Given the description of an element on the screen output the (x, y) to click on. 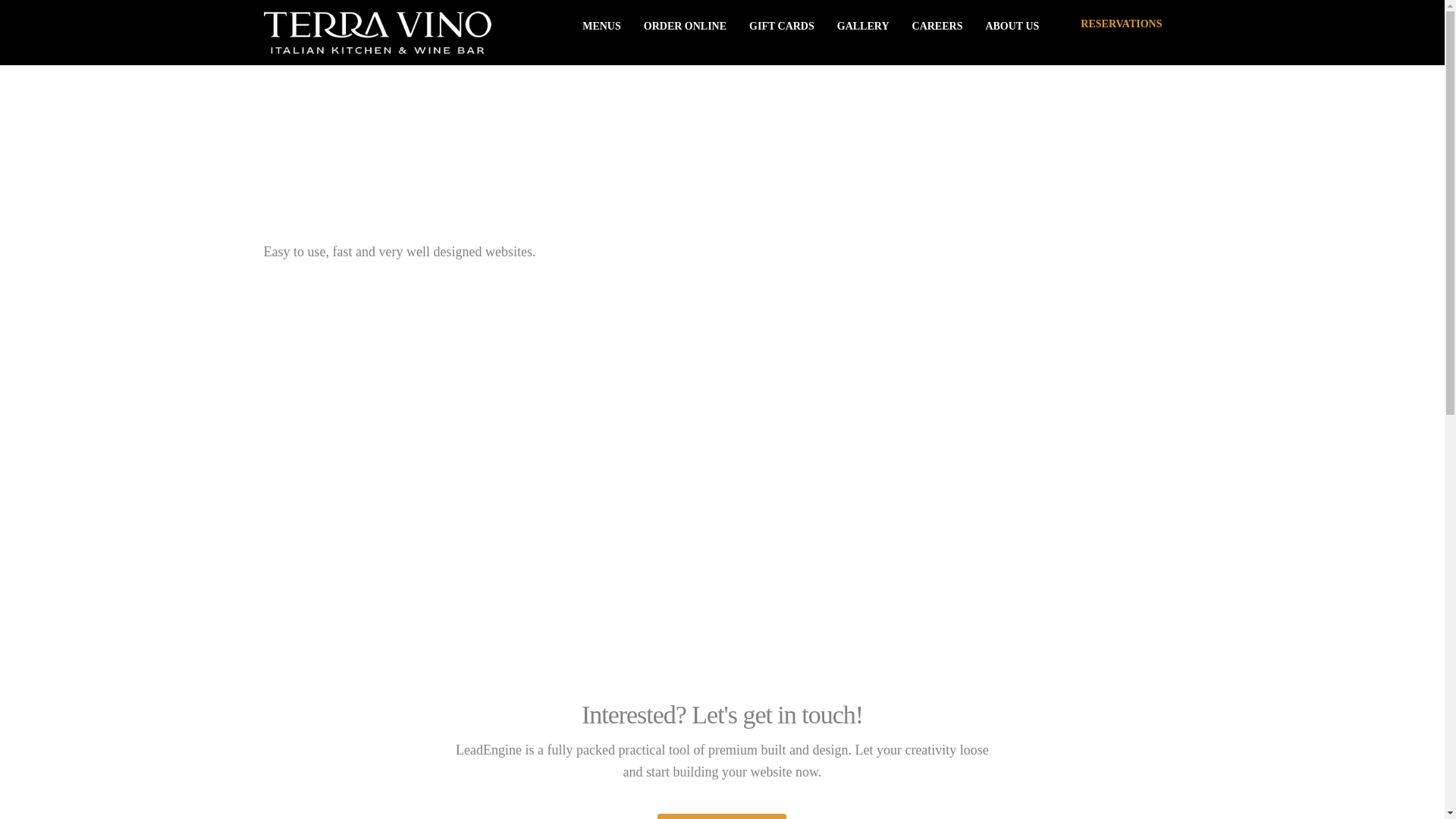
RESERVATIONS (1120, 24)
ORDER ONLINE (684, 25)
Careers (937, 25)
ABOUT US (1011, 25)
GIFT CARDS (781, 25)
Menus (600, 25)
MENUS (600, 25)
About Us (1011, 25)
Gift Cards (781, 25)
ORDER ONLINE (684, 25)
Get started (722, 816)
CAREERS (937, 25)
Gallery (863, 25)
GALLERY (863, 25)
